Given the description of an element on the screen output the (x, y) to click on. 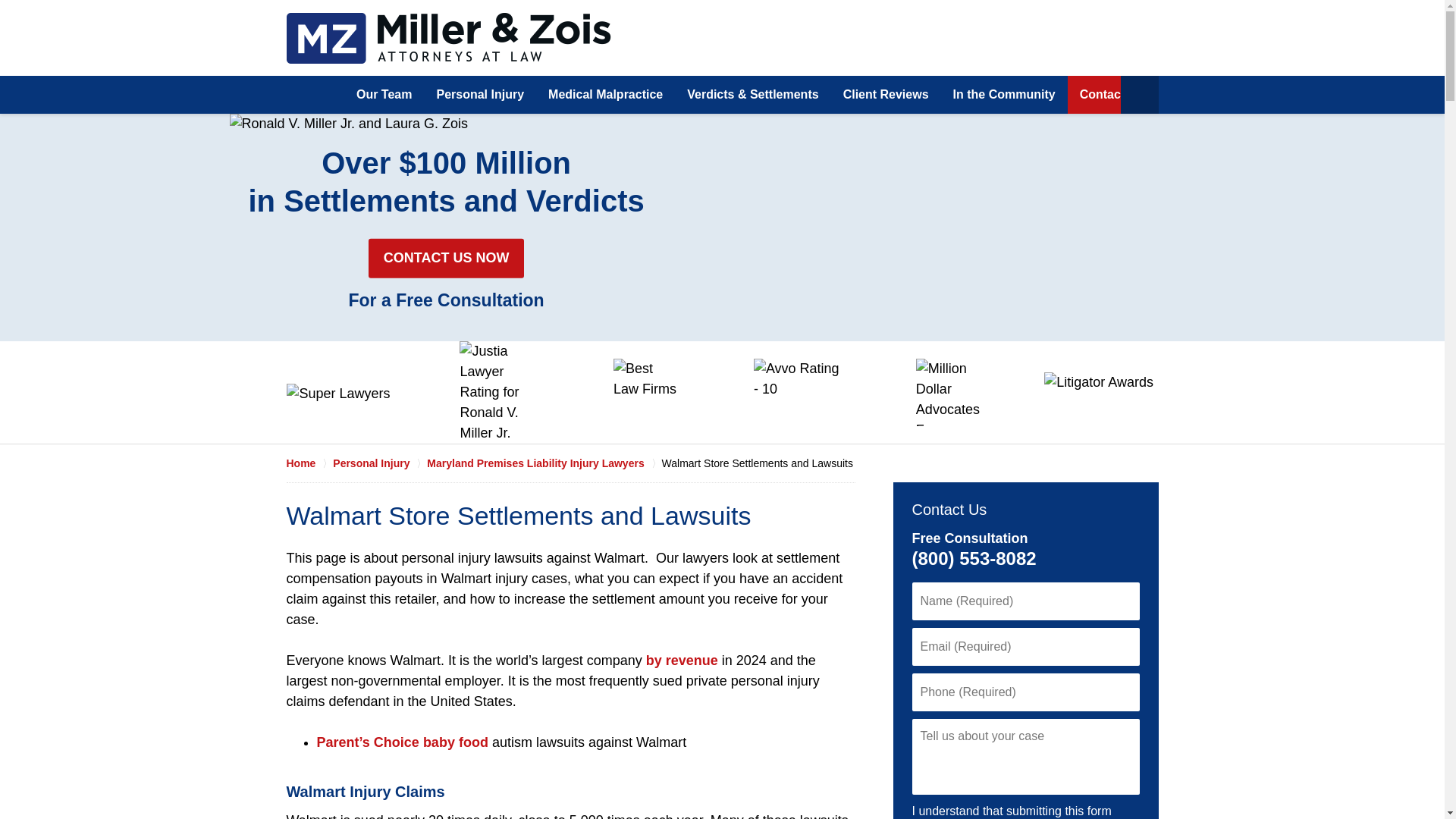
Maryland Personal Injury Lawyers (448, 37)
Contact Us (1111, 94)
In the Community (1003, 94)
CONTACT US NOW (446, 258)
Personal Injury (479, 94)
Our Team (384, 94)
Home (314, 94)
Personal Injury (379, 462)
Medical Malpractice (605, 94)
Maryland Premises Liability Injury Lawyers (543, 462)
